Given the description of an element on the screen output the (x, y) to click on. 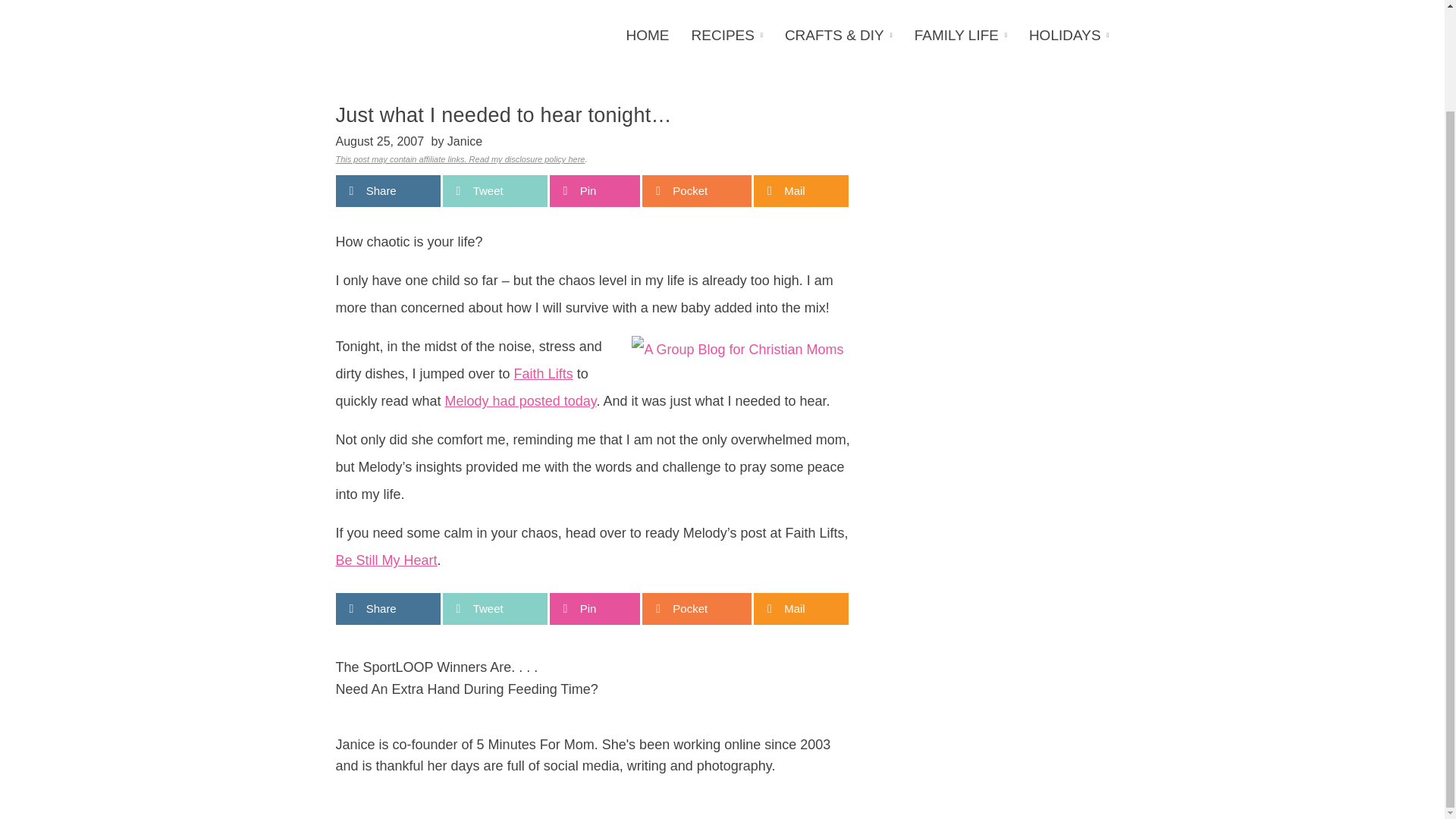
A Group Blog for Christian Moms (737, 349)
RECIPES (726, 35)
HOME (652, 35)
